Given the description of an element on the screen output the (x, y) to click on. 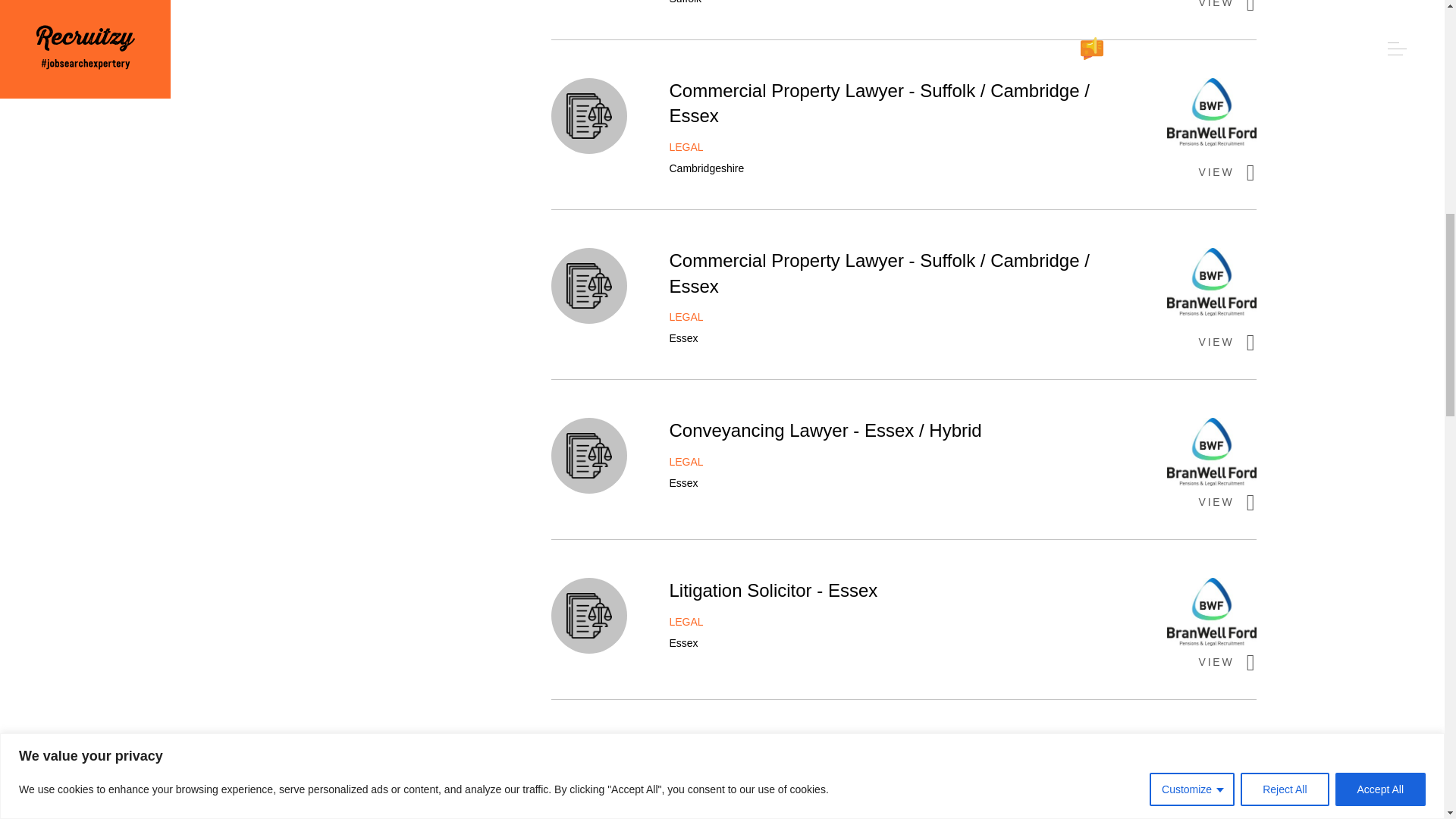
Legal (588, 455)
Legal (588, 285)
Legal (588, 115)
BWF Group (1211, 285)
BWF Group (1211, 115)
